Given the description of an element on the screen output the (x, y) to click on. 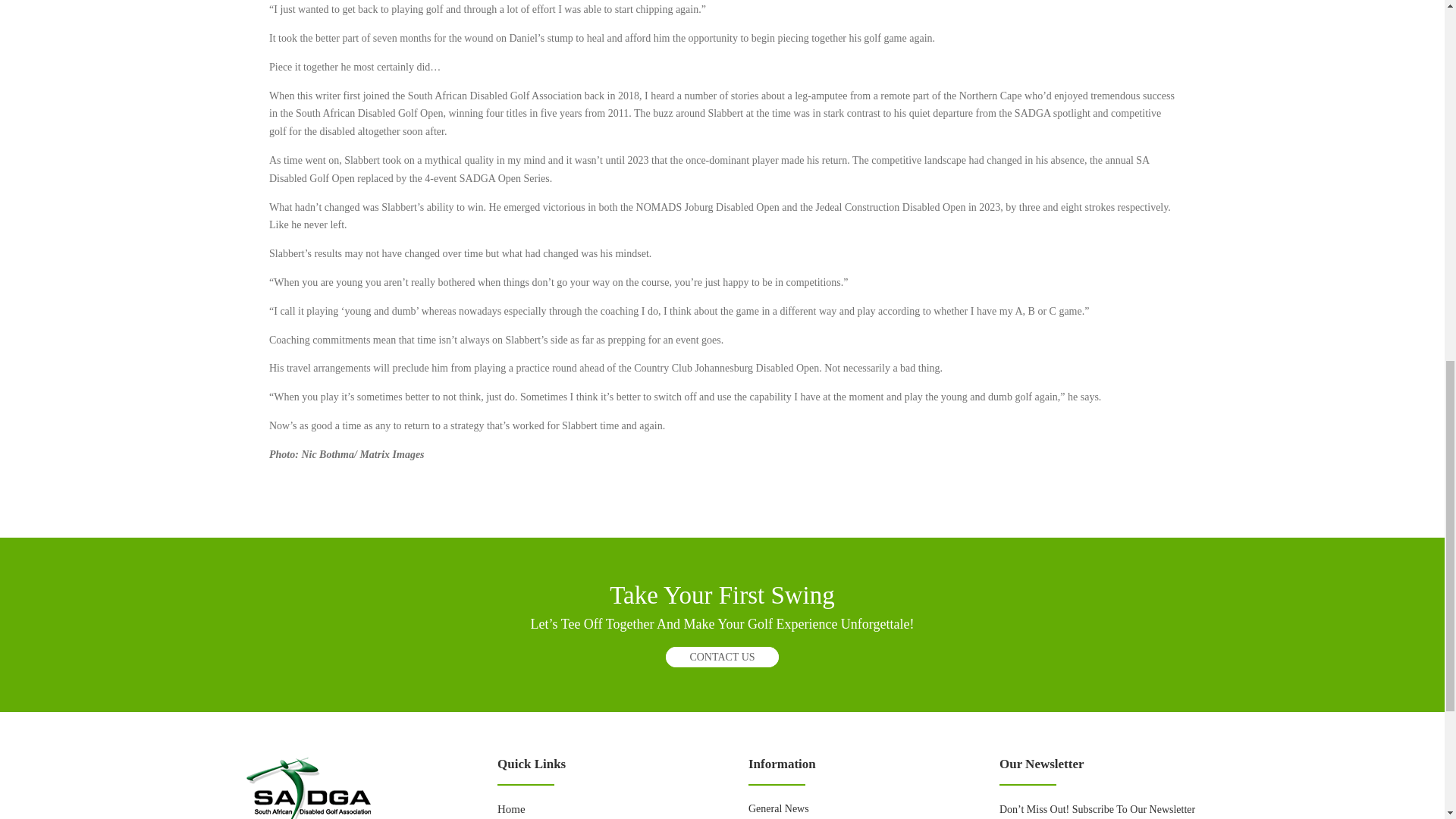
Home (511, 808)
General News (778, 808)
logo-black (308, 788)
CONTACT US (721, 657)
